Given the description of an element on the screen output the (x, y) to click on. 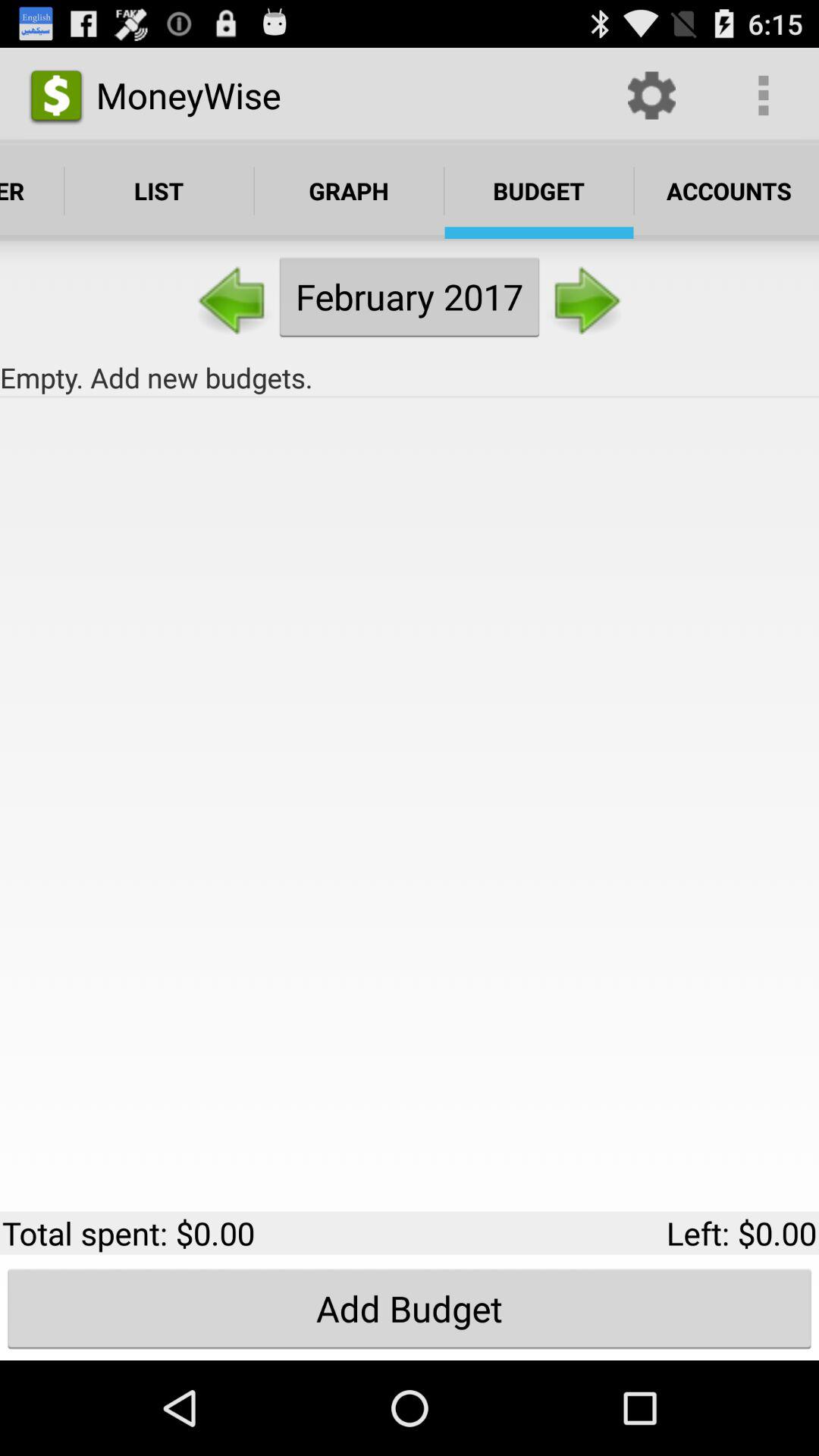
choose icon to the right of the moneywise icon (651, 95)
